Given the description of an element on the screen output the (x, y) to click on. 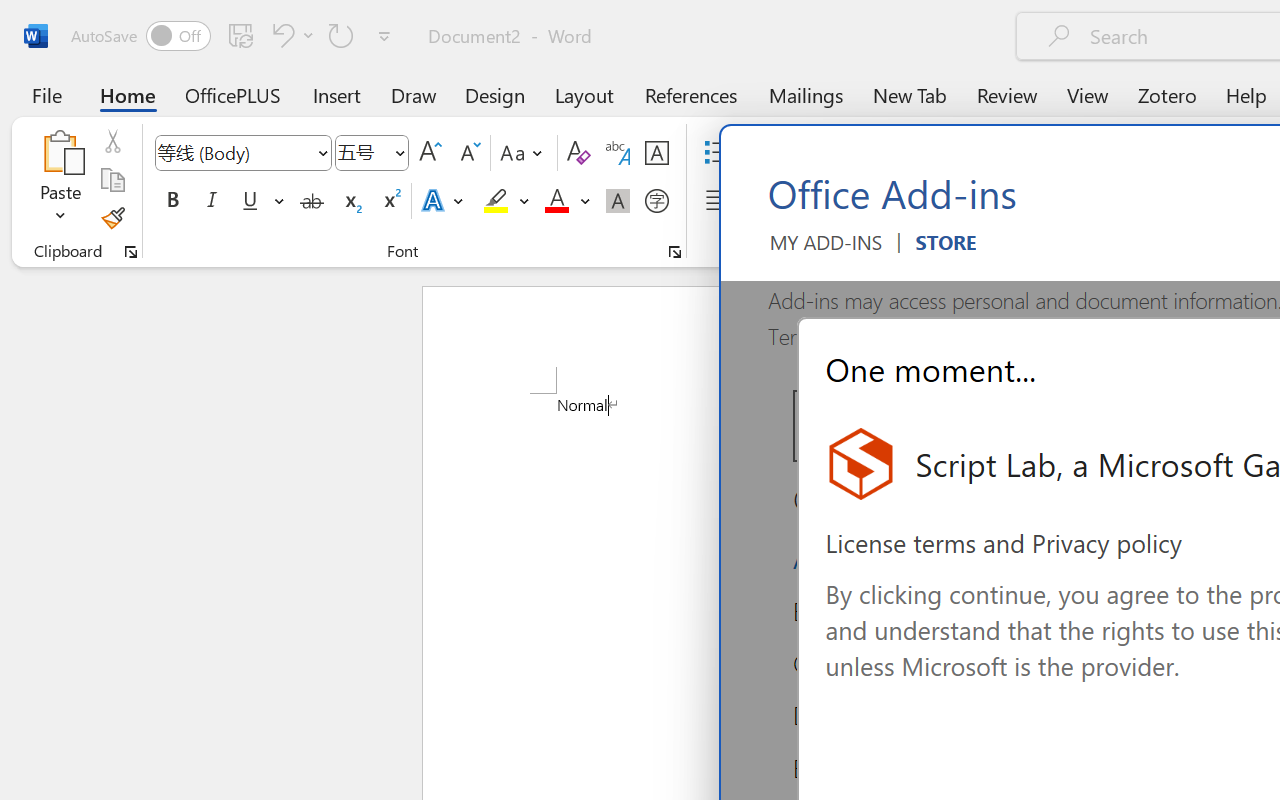
Font (234, 152)
Draw (413, 94)
Text Highlight Color Yellow (495, 201)
Shrink Font (468, 153)
New Tab (909, 94)
Design (495, 94)
Character Border (656, 153)
Font Color Red (556, 201)
Repeat Doc Close (341, 35)
Font Color (567, 201)
Customize Quick Access Toolbar (384, 35)
Quick Access Toolbar (233, 36)
More Options (585, 201)
Enclose Characters... (656, 201)
